Given the description of an element on the screen output the (x, y) to click on. 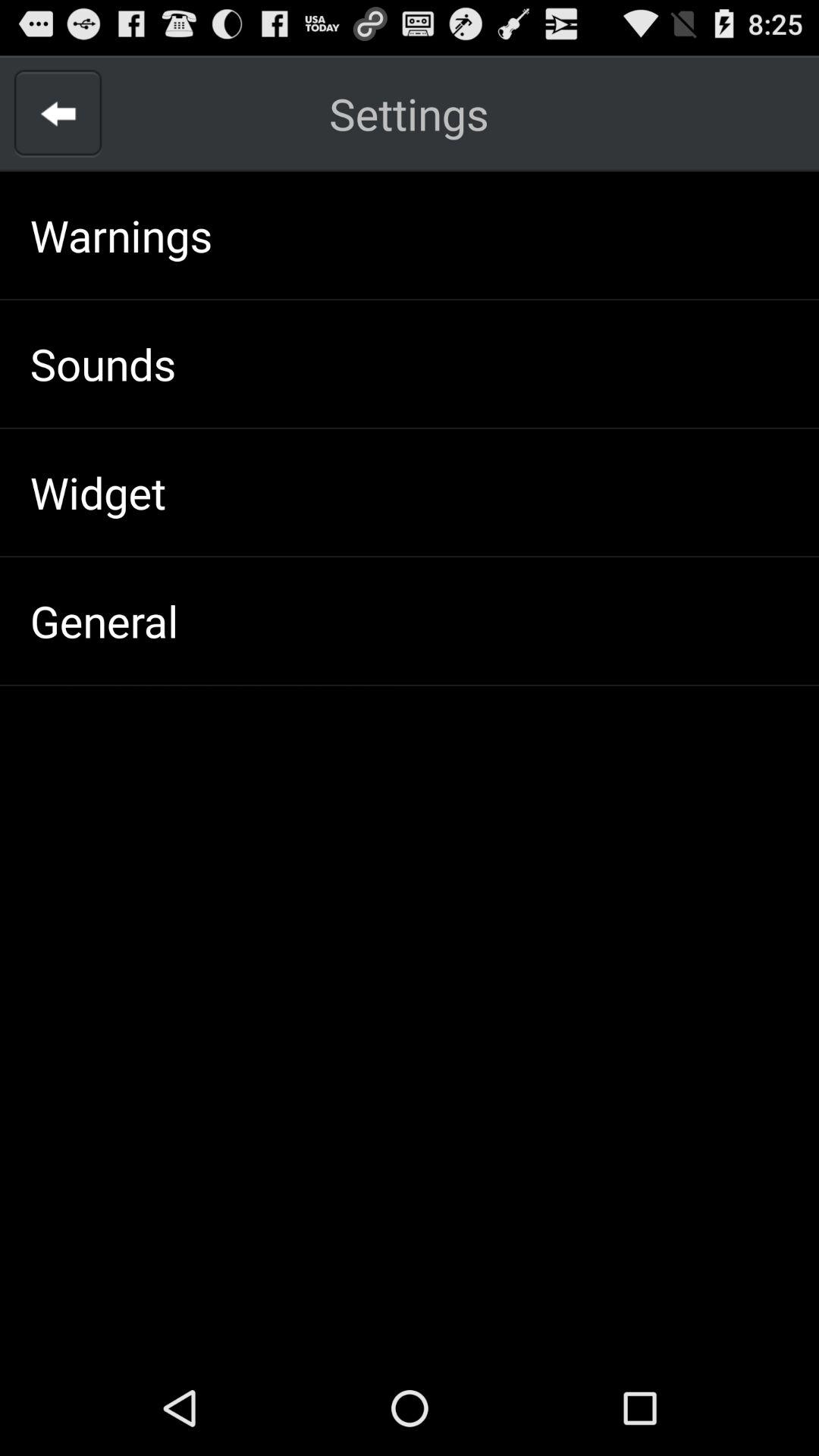
launch app above general icon (98, 491)
